Given the description of an element on the screen output the (x, y) to click on. 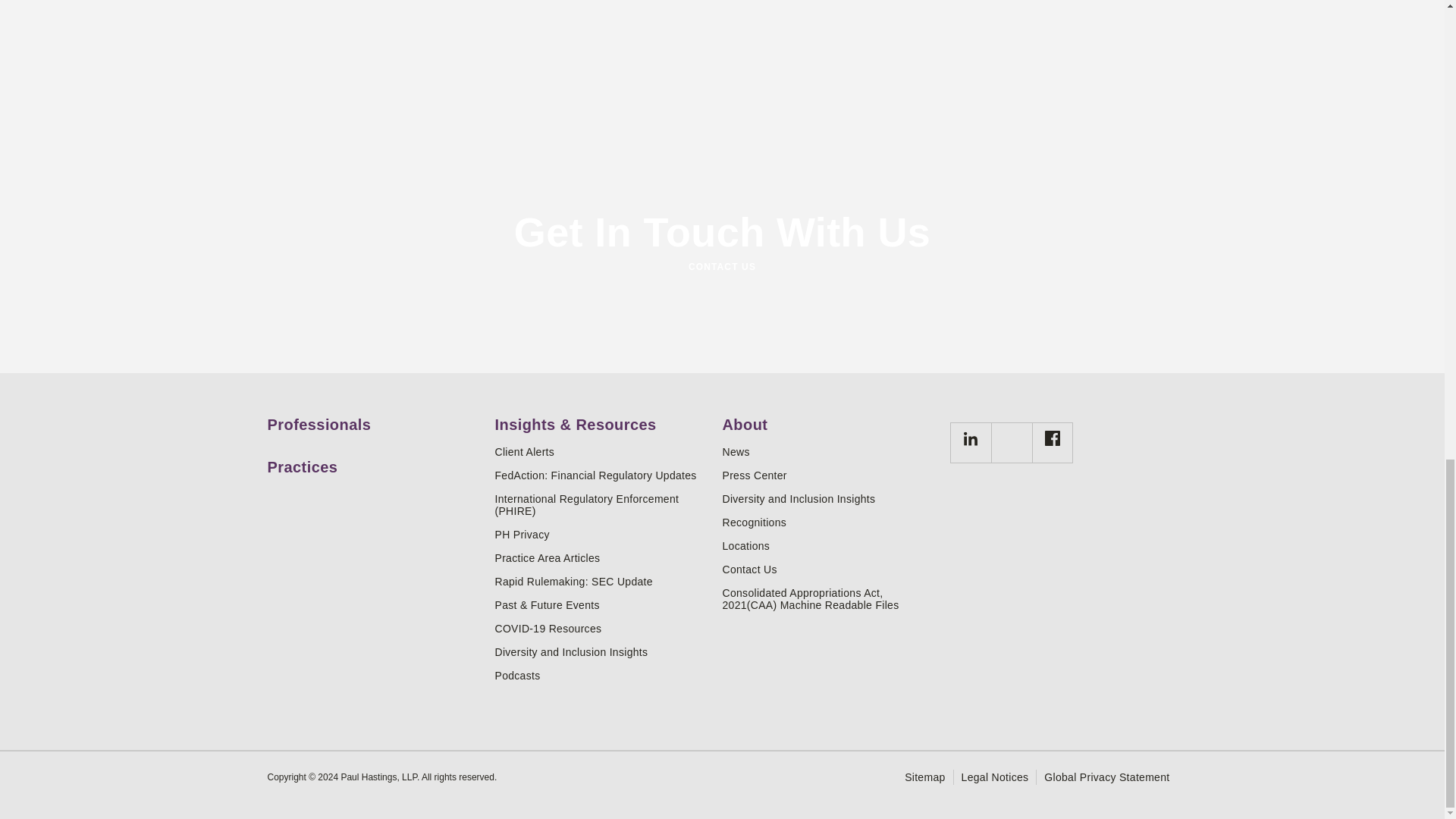
Podcasts (602, 675)
CB6A0679-7CD4-47AB-9AF9-079521319001Created with sketchtool. (969, 442)
News (829, 451)
Practices (374, 460)
CONTACT US (721, 266)
Locations (829, 545)
BC42128A-F0DE-4FE2-9372-6CDE6D4F5957Created with sketchtool. (1052, 437)
Contact Us (829, 569)
PH Privacy (602, 534)
Professionals (374, 418)
